Given the description of an element on the screen output the (x, y) to click on. 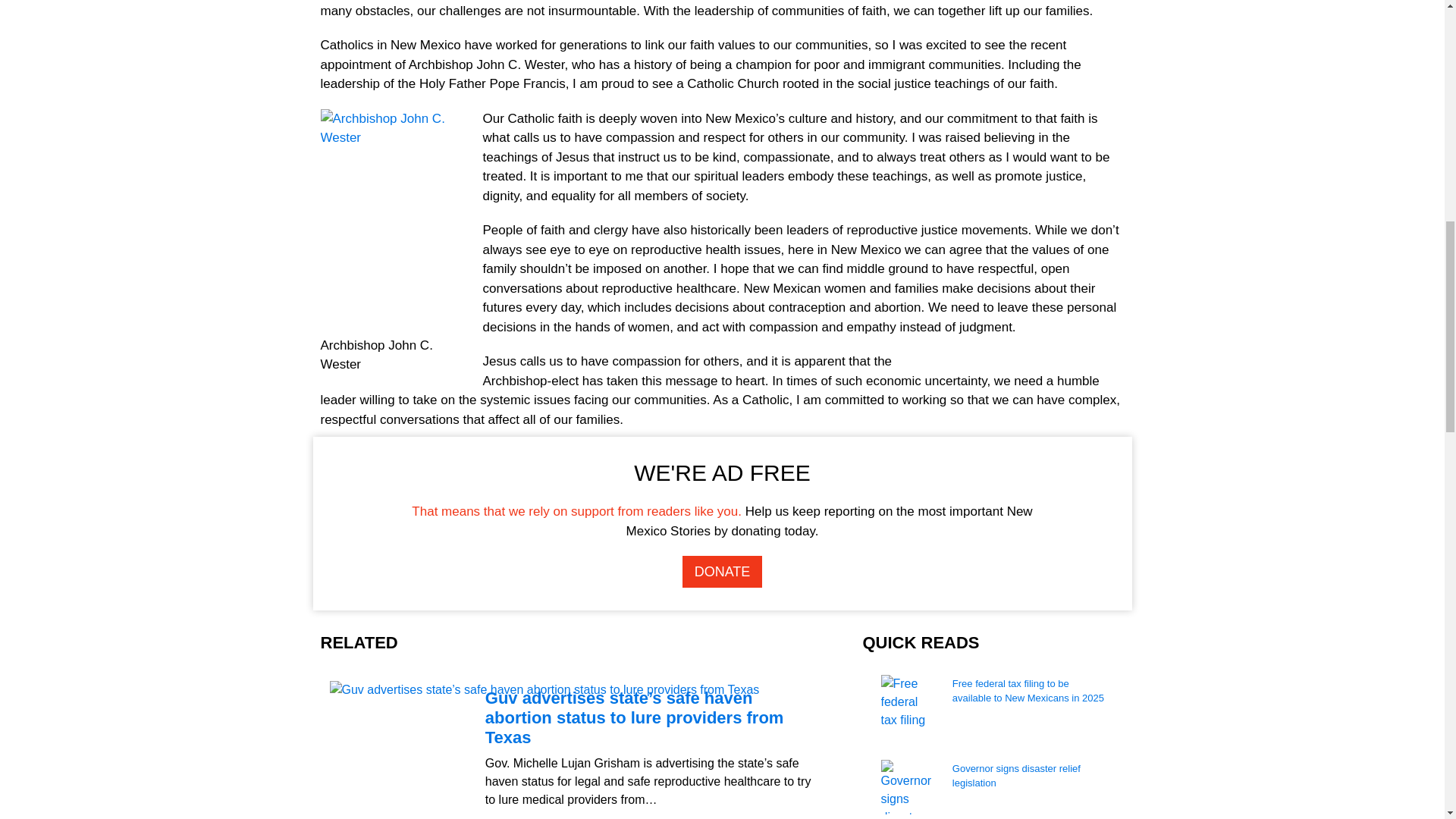
DONATE (722, 572)
Governor signs disaster relief legislation (1030, 783)
